Given the description of an element on the screen output the (x, y) to click on. 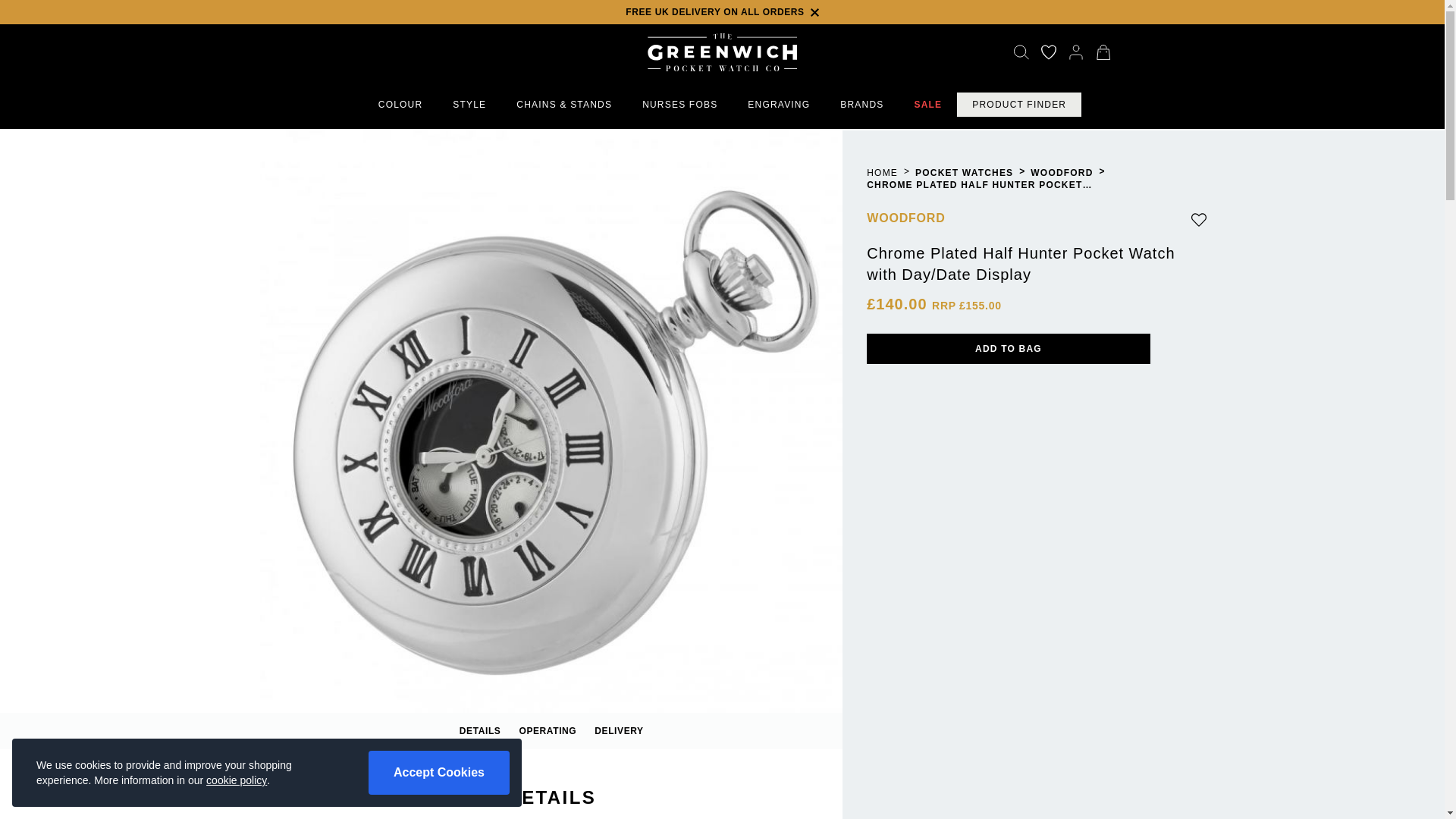
COLOUR (400, 104)
ENGRAVING (551, 730)
BRANDS (778, 104)
Skip to content (861, 104)
NURSES FOBS (469, 104)
